Given the description of an element on the screen output the (x, y) to click on. 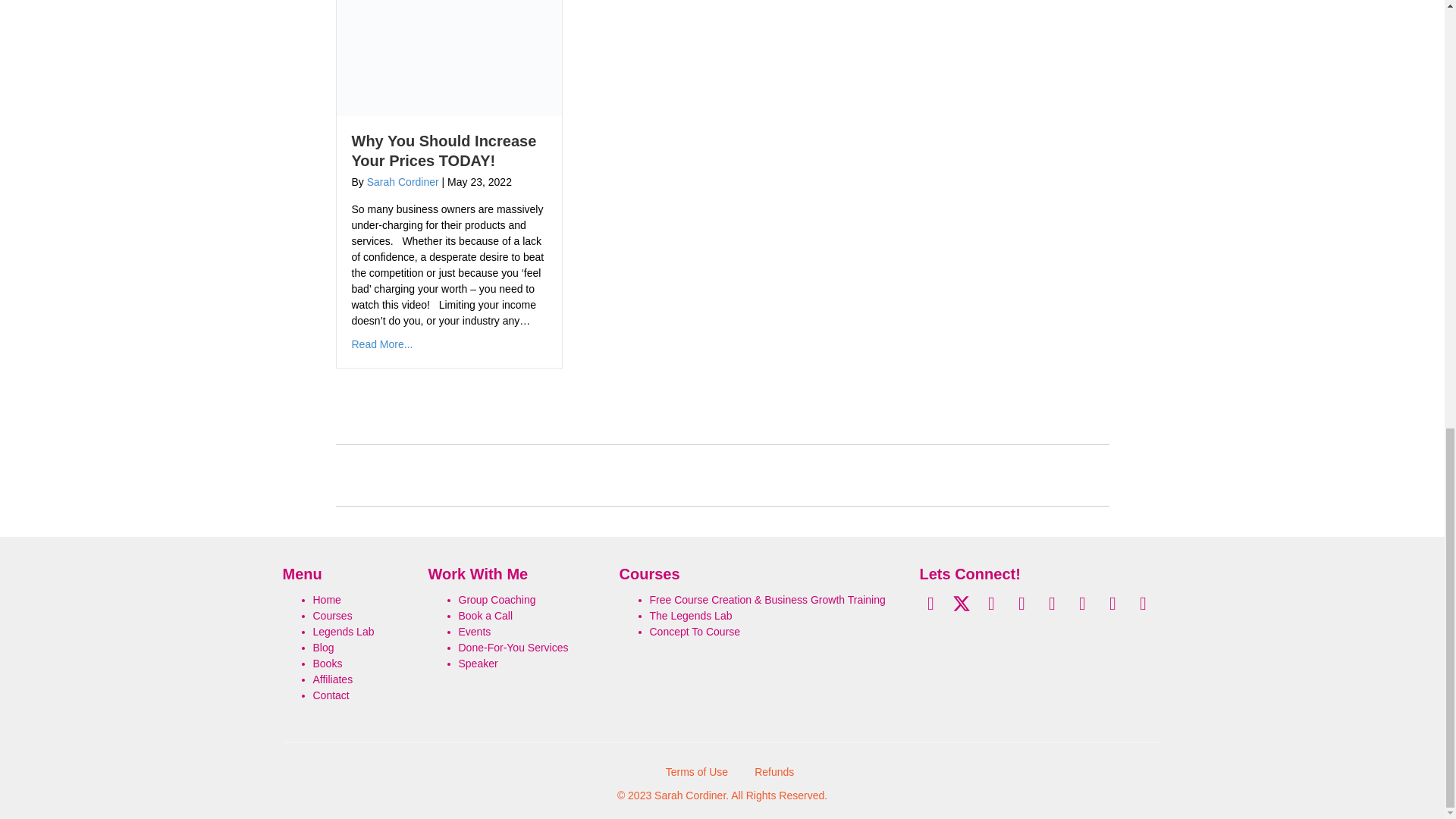
Courses (332, 615)
Legends Lab (343, 631)
Sarah Cordiner (402, 182)
Why You Should Increase Your Prices TODAY! (449, 51)
Read More... (382, 344)
Home (326, 599)
Facebook (930, 603)
Read More... (382, 344)
LinkedIn (1021, 603)
Why You Should Increase Your Prices TODAY! (444, 150)
